Given the description of an element on the screen output the (x, y) to click on. 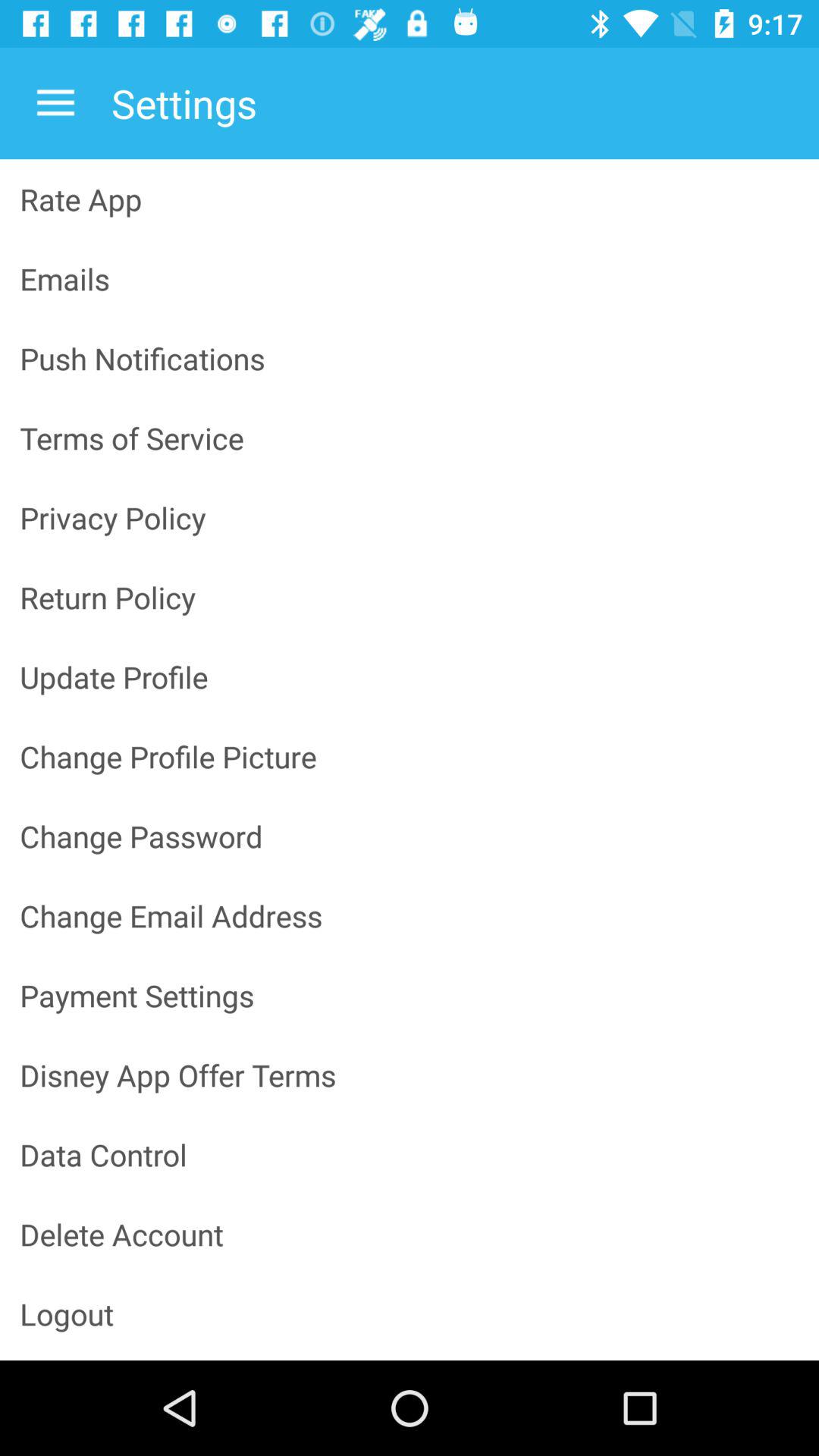
turn on the icon above the change email address icon (409, 836)
